Given the description of an element on the screen output the (x, y) to click on. 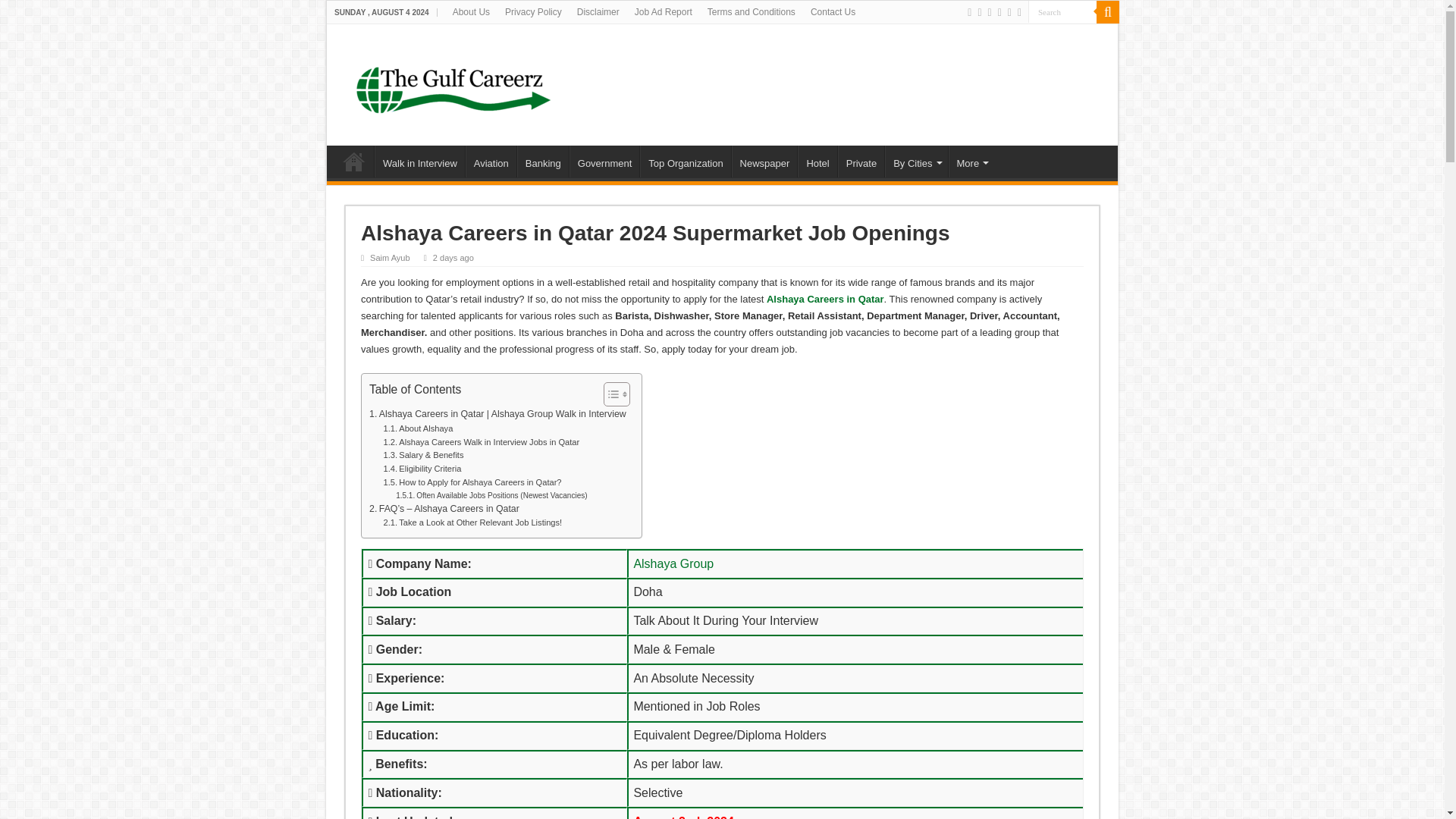
Hotel (816, 161)
Job Ad Report (663, 11)
Banking (542, 161)
Private (860, 161)
Aviation (490, 161)
Disclaimer (598, 11)
Government (604, 161)
Search (1061, 11)
More (970, 161)
